Given the description of an element on the screen output the (x, y) to click on. 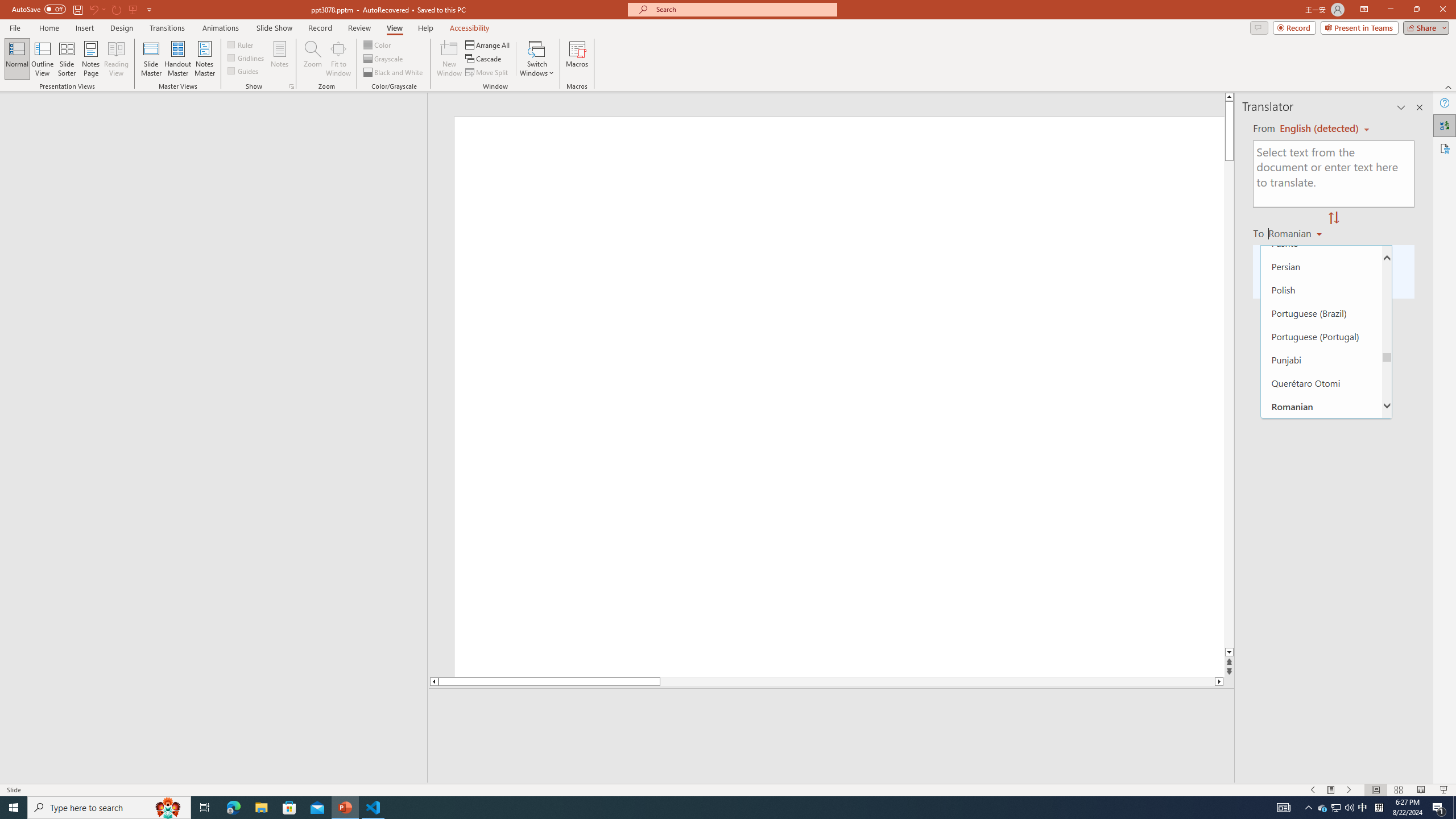
Slovak (1320, 685)
Switch Windows (537, 58)
Romanian (1320, 405)
Guides (243, 69)
Gridlines (246, 56)
Somali (1320, 731)
